Given the description of an element on the screen output the (x, y) to click on. 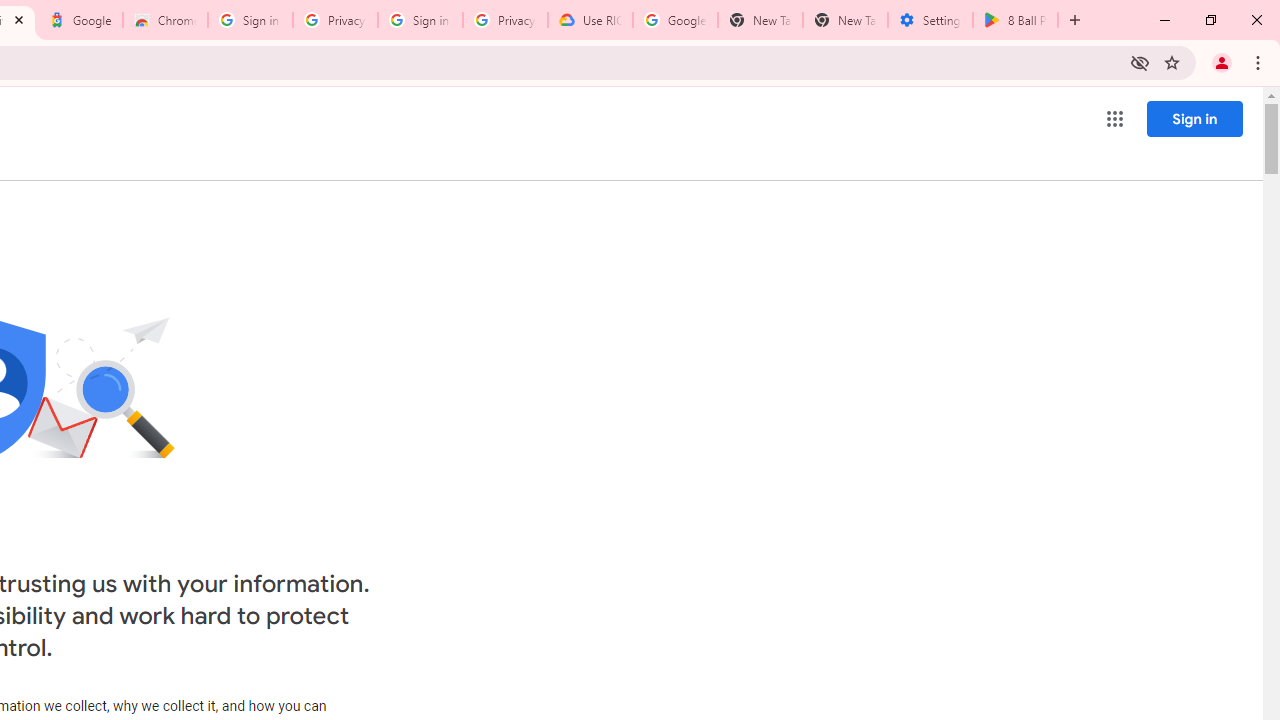
8 Ball Pool - Apps on Google Play (1015, 20)
New Tab (845, 20)
